Given the description of an element on the screen output the (x, y) to click on. 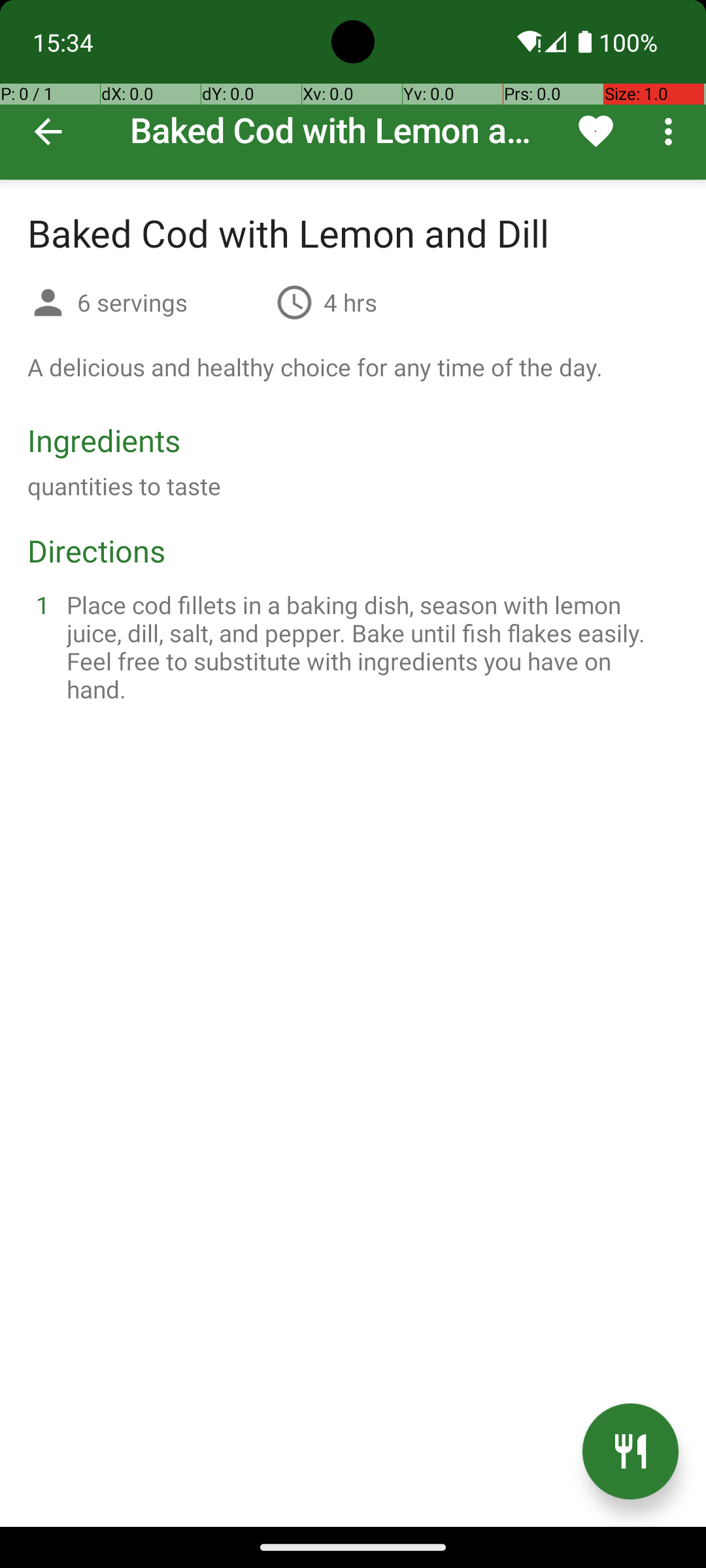
Place cod fillets in a baking dish, season with lemon juice, dill, salt, and pepper. Bake until fish flakes easily. Feel free to substitute with ingredients you have on hand. Element type: android.widget.TextView (368, 646)
